Given the description of an element on the screen output the (x, y) to click on. 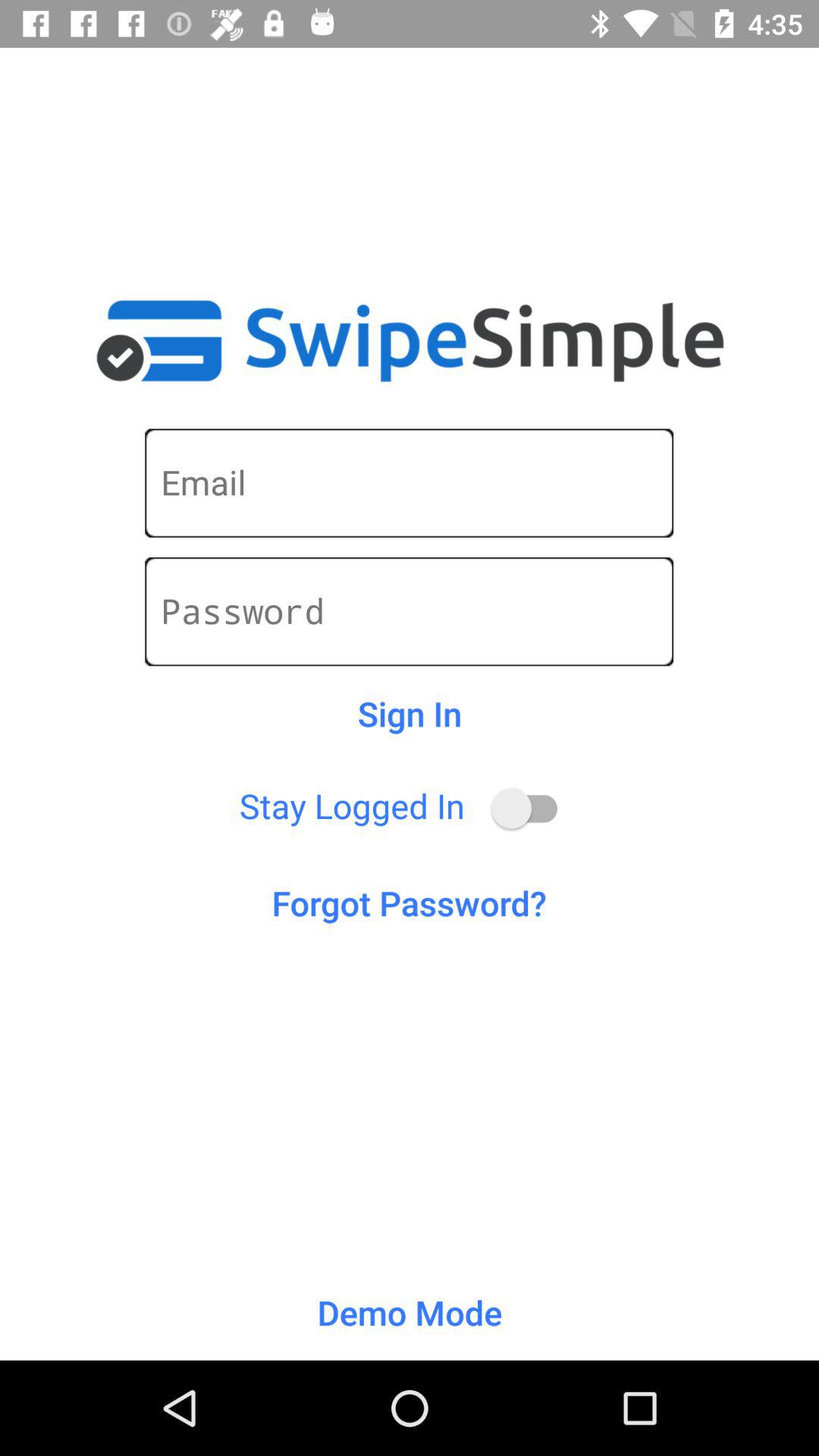
activation button (531, 808)
